Given the description of an element on the screen output the (x, y) to click on. 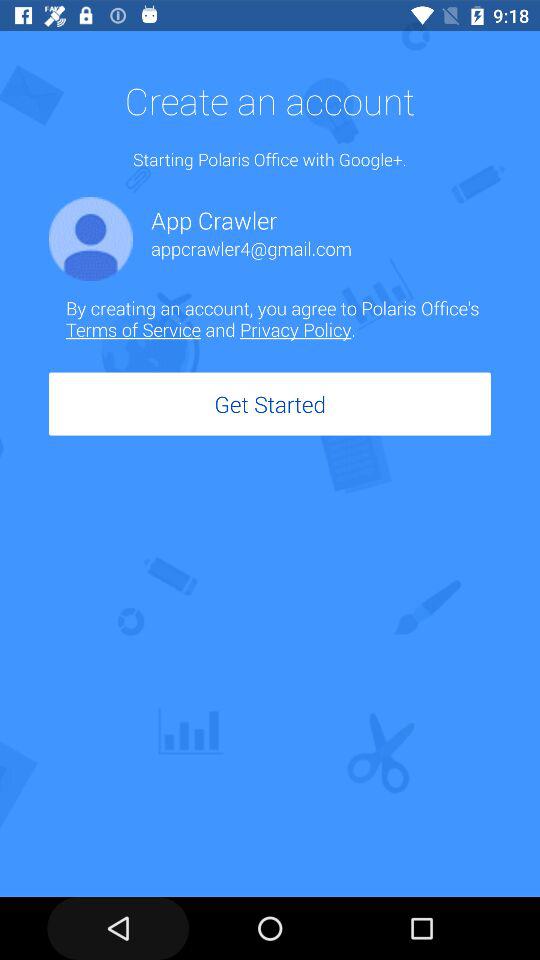
scroll to get started (269, 403)
